Given the description of an element on the screen output the (x, y) to click on. 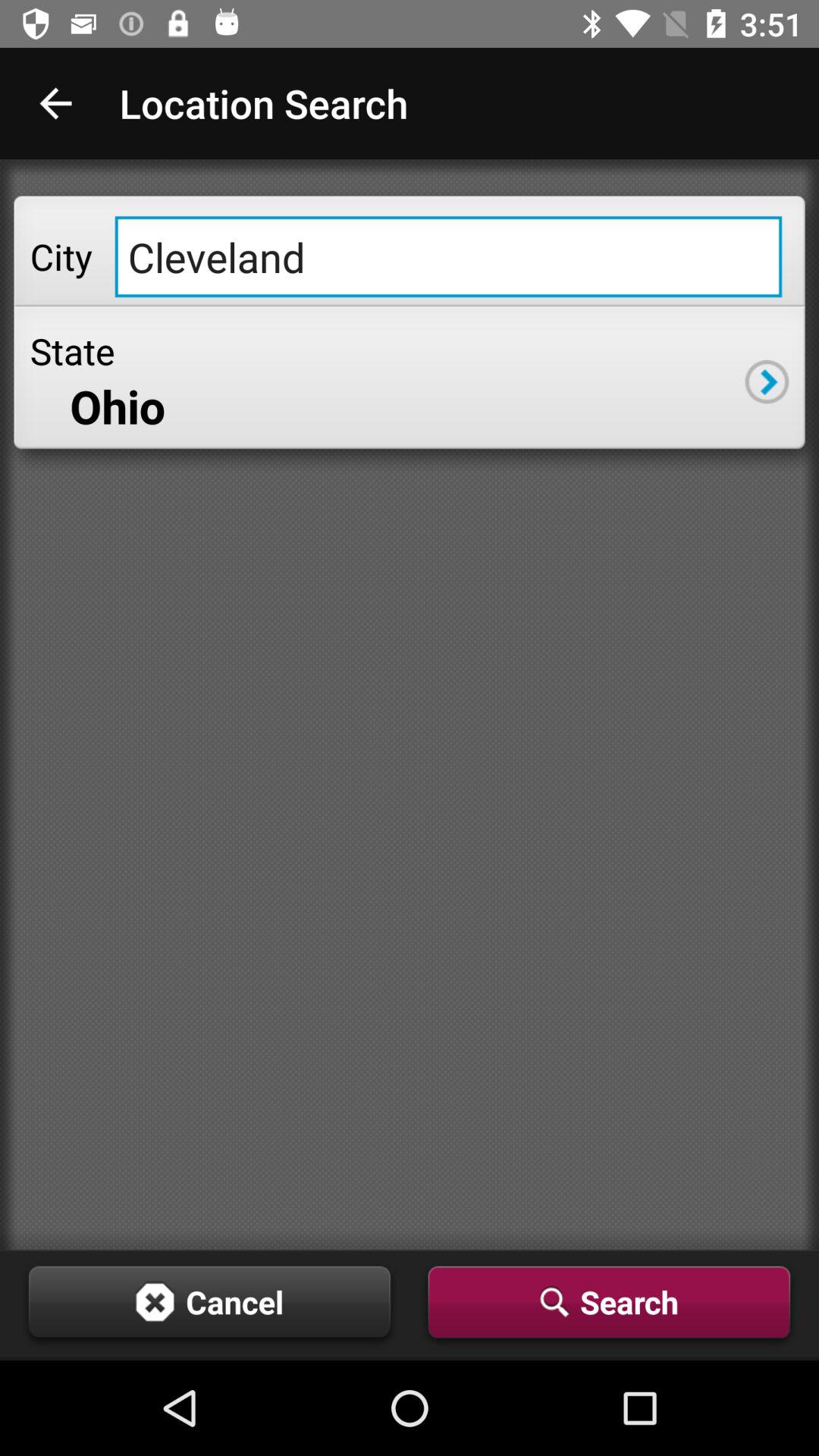
click the item to the right of city icon (448, 256)
